Given the description of an element on the screen output the (x, y) to click on. 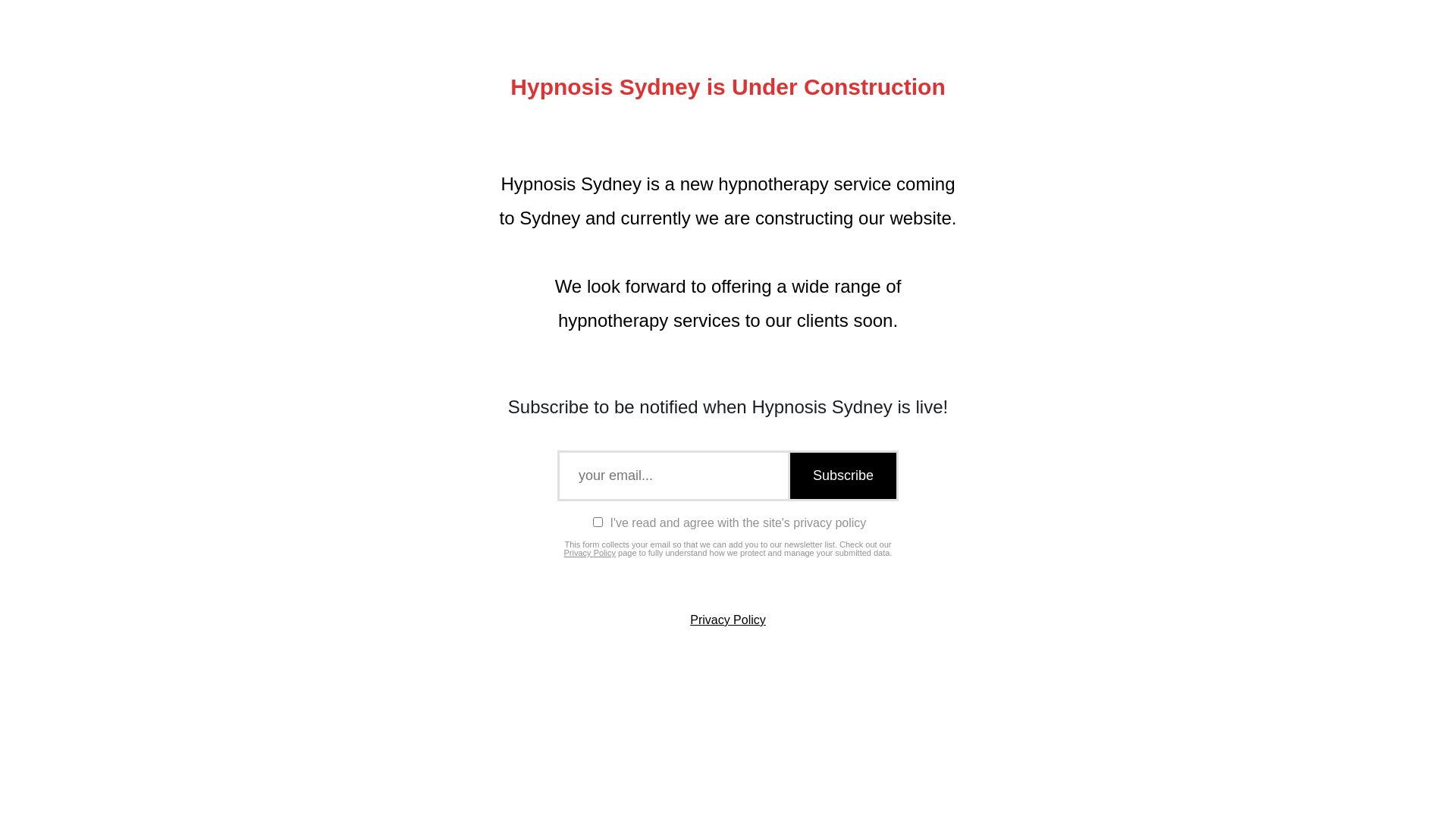
Subscribe Element type: text (841, 475)
Privacy Policy Element type: text (589, 552)
Privacy Policy Element type: text (727, 619)
